Given the description of an element on the screen output the (x, y) to click on. 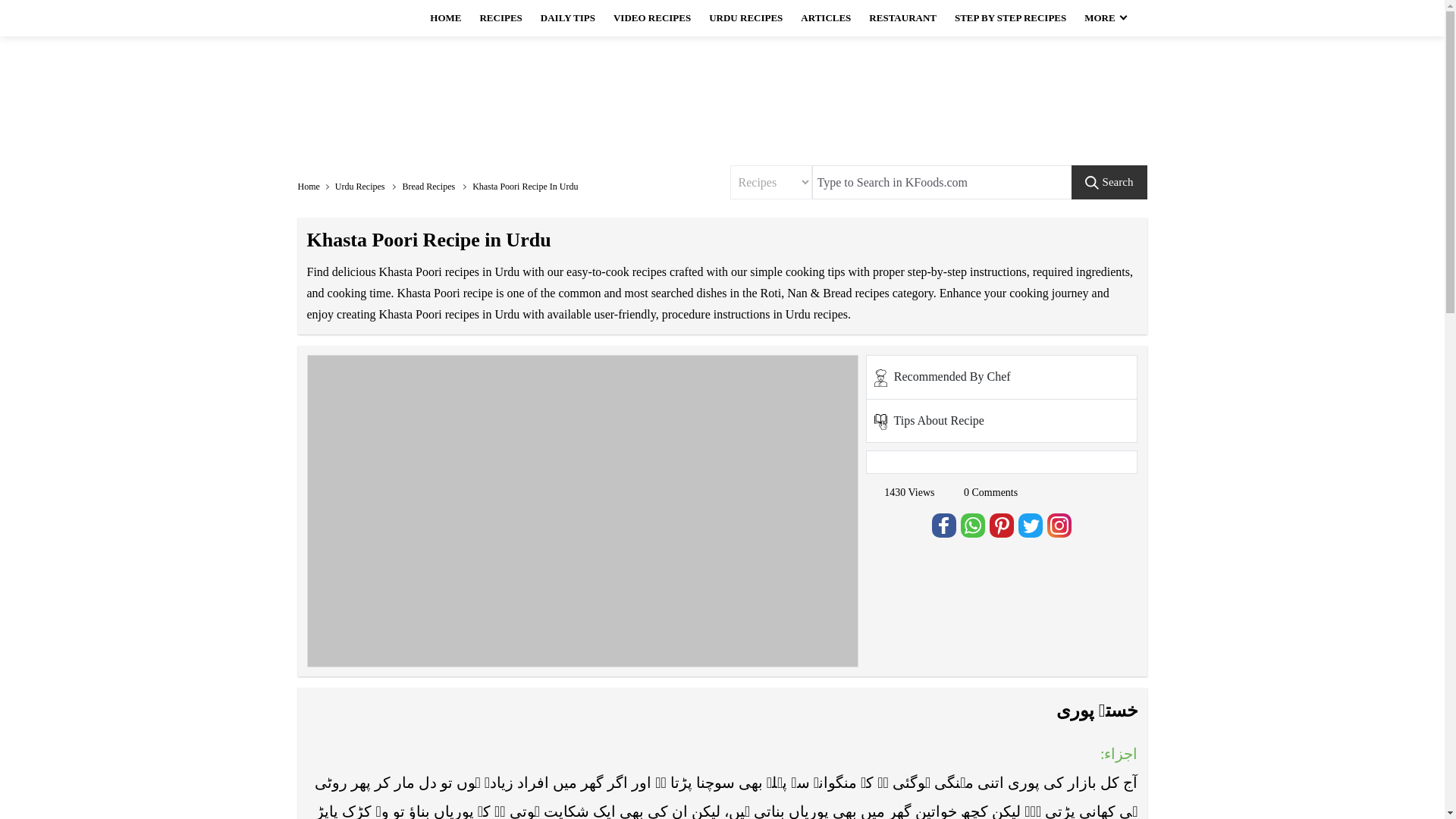
Search (1108, 182)
Kfood (353, 18)
Bread Recipes (435, 186)
STEP BY STEP RECIPES (1010, 18)
DAILY TIPS (567, 18)
VIDEO RECIPES (651, 18)
URDU RECIPES (745, 18)
MORE (1104, 18)
RECIPES (500, 18)
ARTICLES (826, 18)
